Given the description of an element on the screen output the (x, y) to click on. 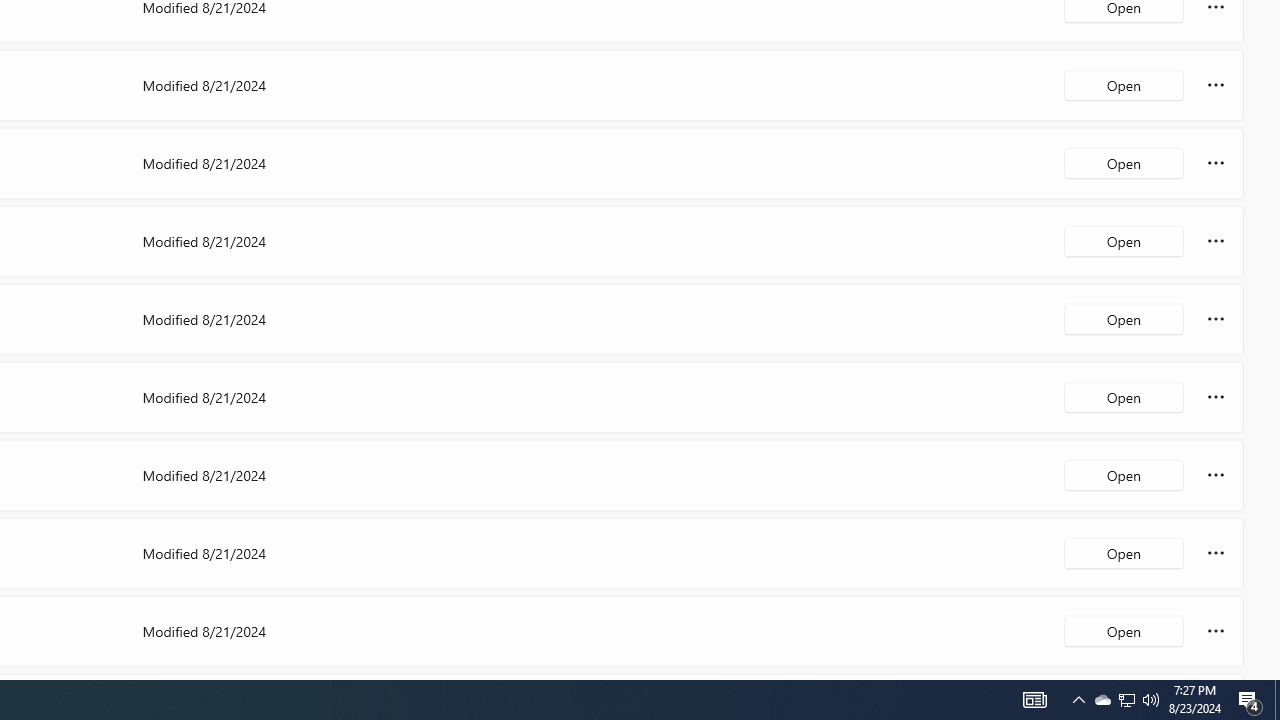
Open (1123, 630)
More options (1215, 630)
